Given the description of an element on the screen output the (x, y) to click on. 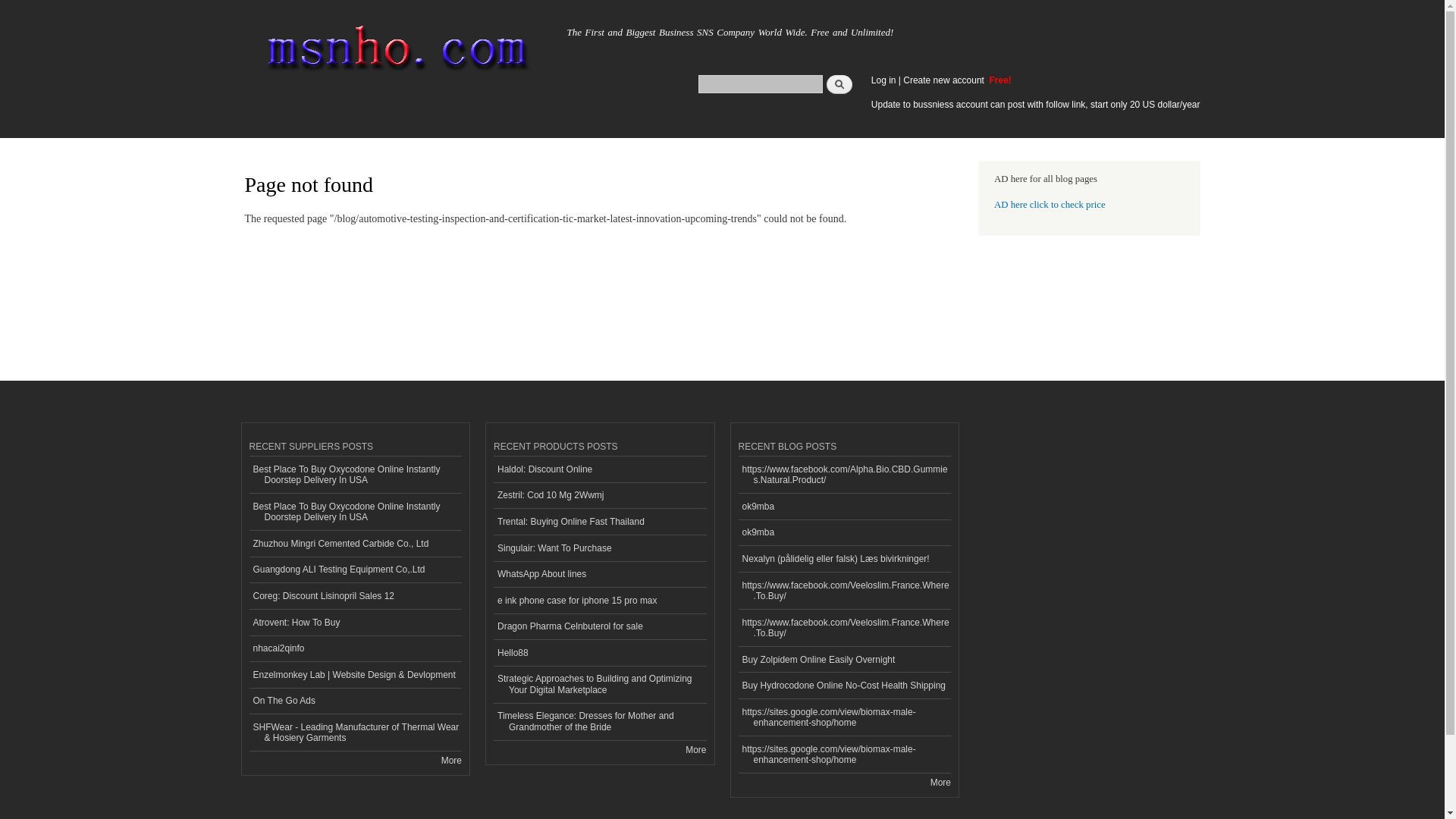
Read the latest products entries. (695, 749)
nhacai2qinfo (354, 649)
Create new account (944, 79)
Read the latest blog entries. (940, 782)
e ink phone case for iphone 15 pro max (599, 601)
More (451, 760)
More (695, 749)
Log in (883, 79)
Zestril: Cod 10 Mg 2Wwmj (599, 496)
Read the latest suppliers entries. (451, 760)
ok9mba (845, 533)
On The Go Ads (354, 701)
WhatsApp About lines (599, 574)
AD here click to check price (1049, 204)
